Given the description of an element on the screen output the (x, y) to click on. 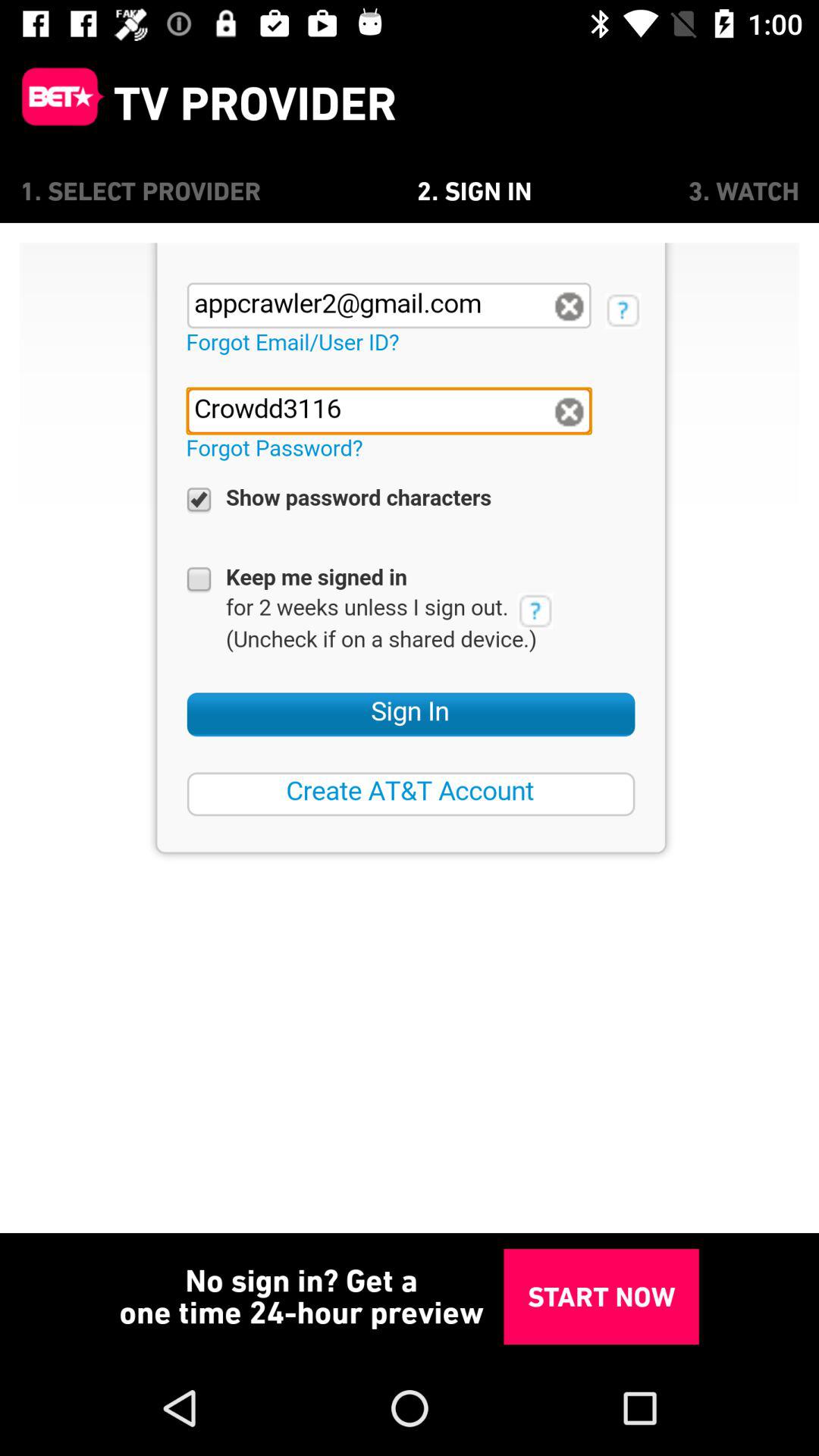
home icon (56, 103)
